Given the description of an element on the screen output the (x, y) to click on. 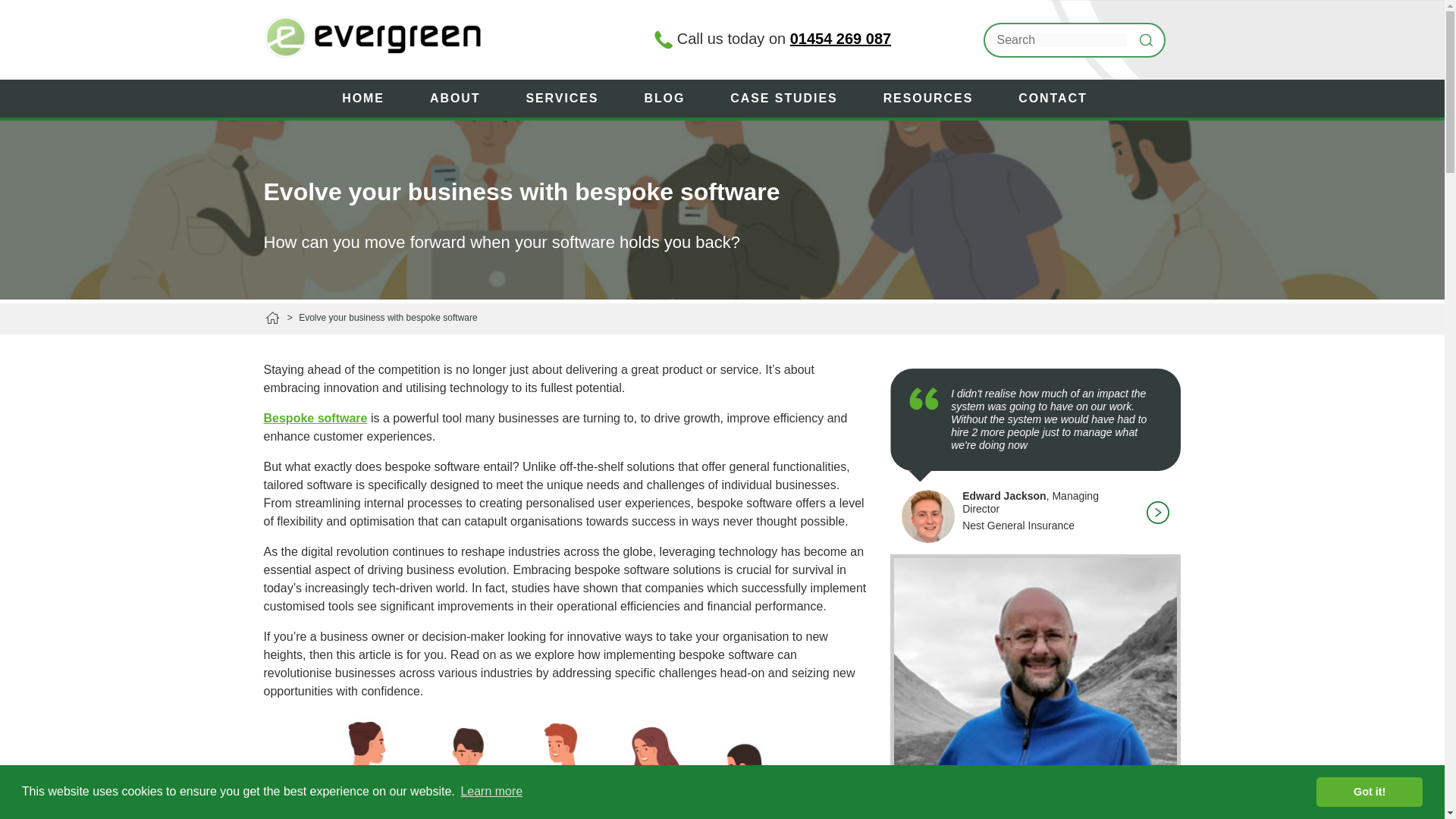
Got it! (1369, 791)
Home (370, 98)
Learn more (491, 791)
About Evergreen Computing Ltd (462, 98)
Blog (671, 98)
Our services (569, 98)
Case Studies (790, 98)
